Given the description of an element on the screen output the (x, y) to click on. 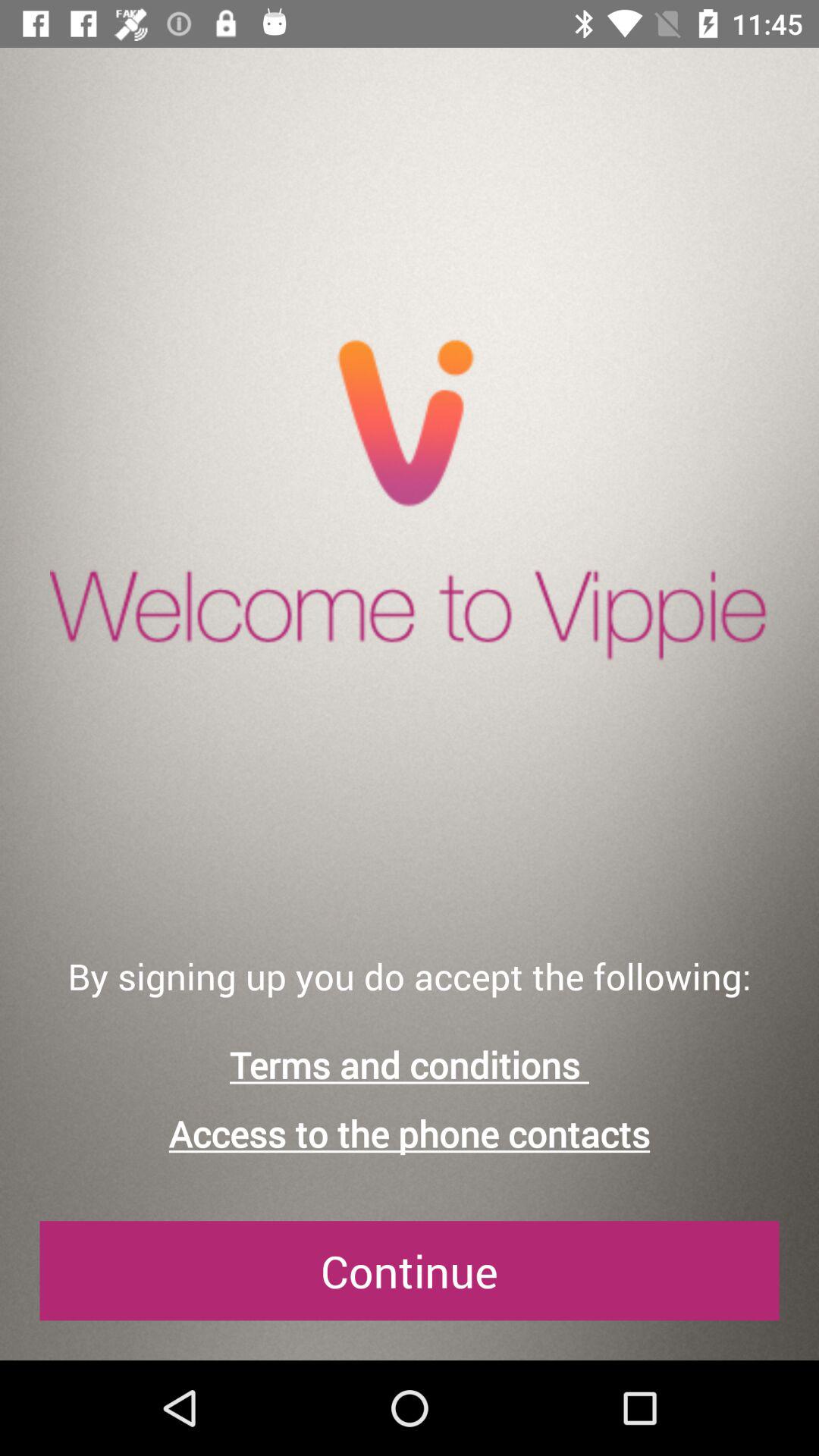
jump until the continue (409, 1270)
